Given the description of an element on the screen output the (x, y) to click on. 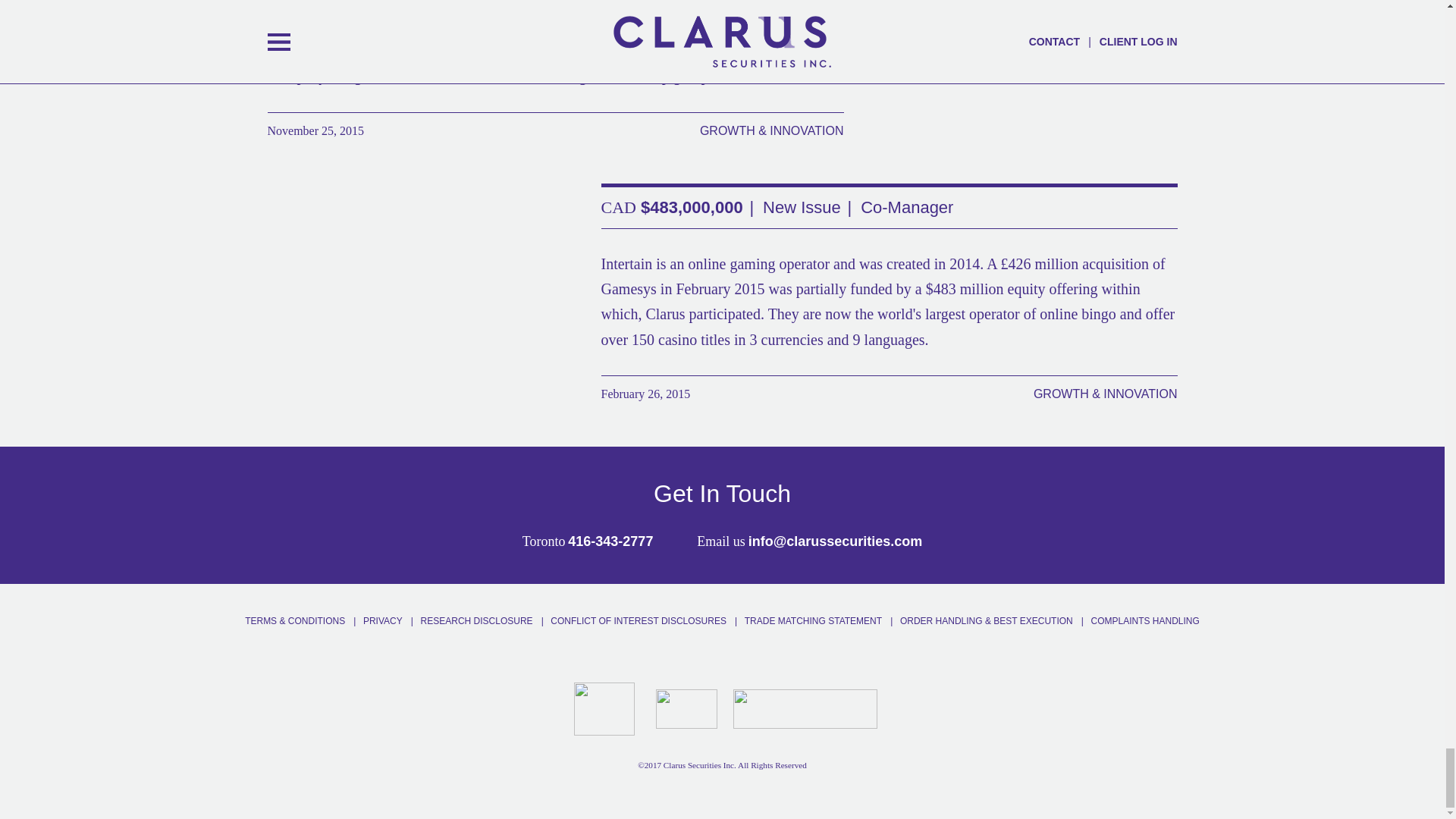
PRIVACY (382, 620)
COMPLAINTS HANDLING (1144, 620)
TRADE MATCHING STATEMENT (813, 620)
CONFLICT OF INTEREST DISCLOSURES (638, 620)
RESEARCH DISCLOSURE (476, 620)
416-343-2777 (609, 540)
